Given the description of an element on the screen output the (x, y) to click on. 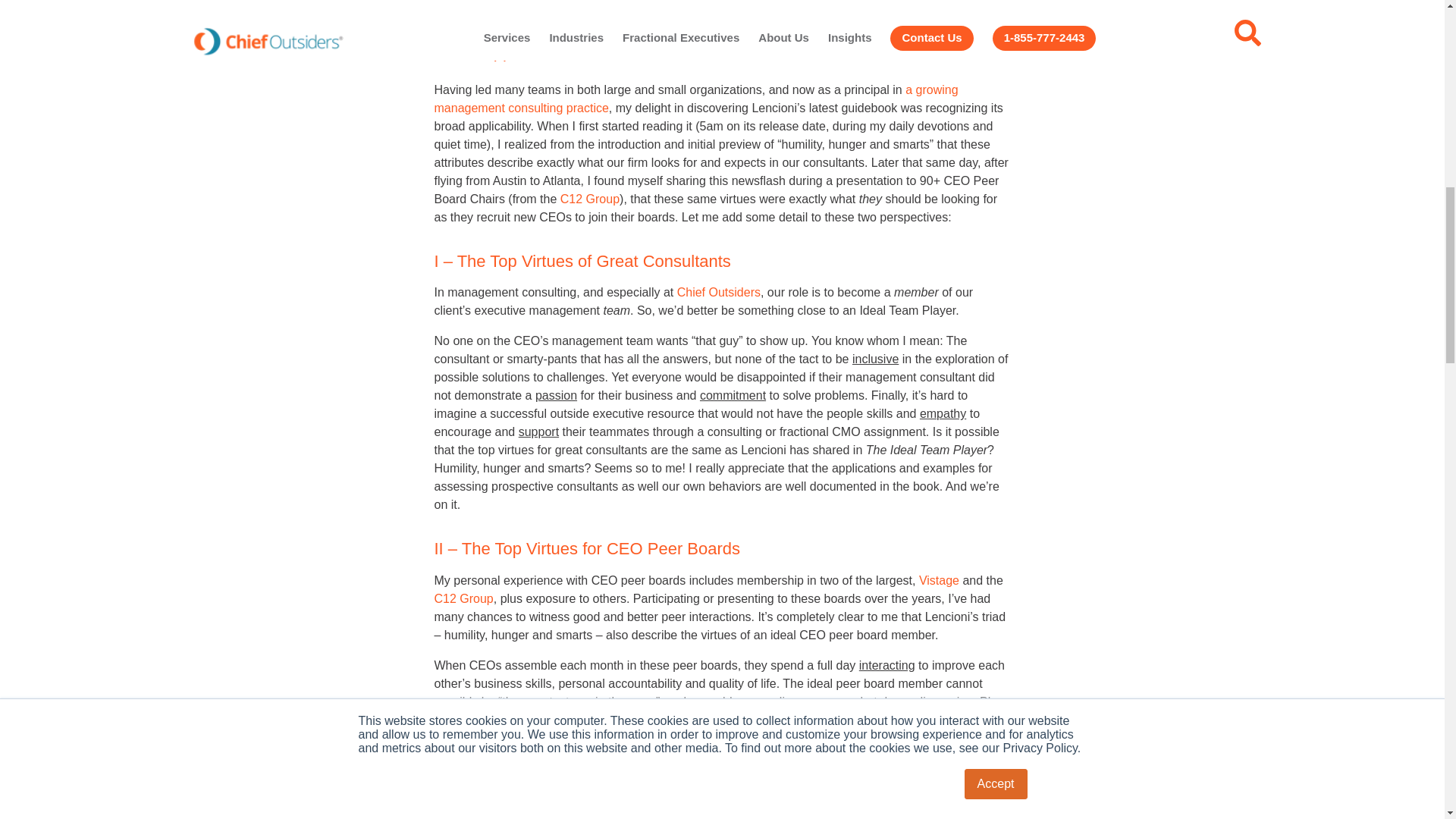
the-ideal-team-player.jpg (953, 22)
